Given the description of an element on the screen output the (x, y) to click on. 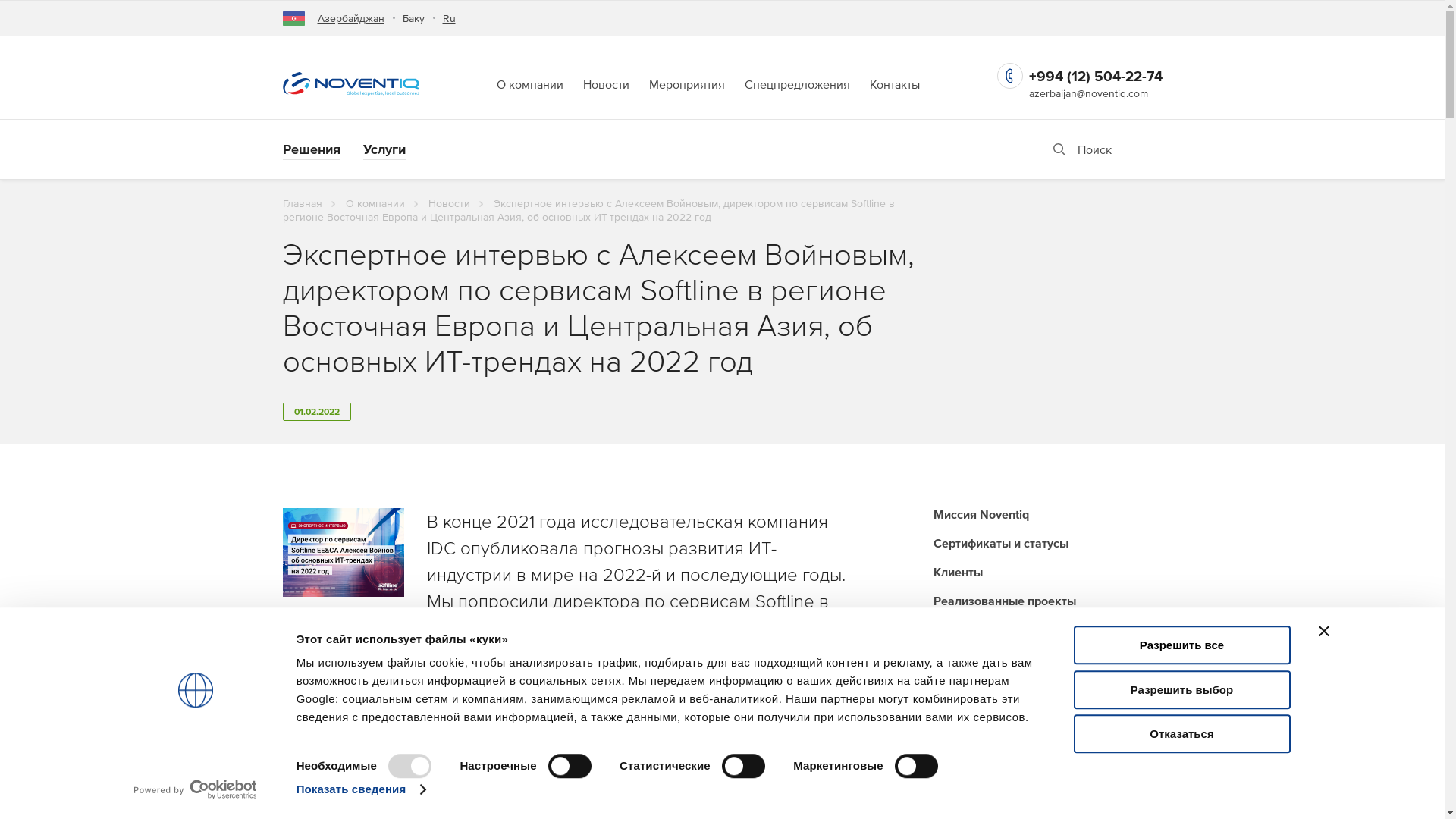
+994 (12) 504-22-74 Element type: text (1094, 76)
azerbaijan@noventiq.com Element type: text (1087, 93)
